Given the description of an element on the screen output the (x, y) to click on. 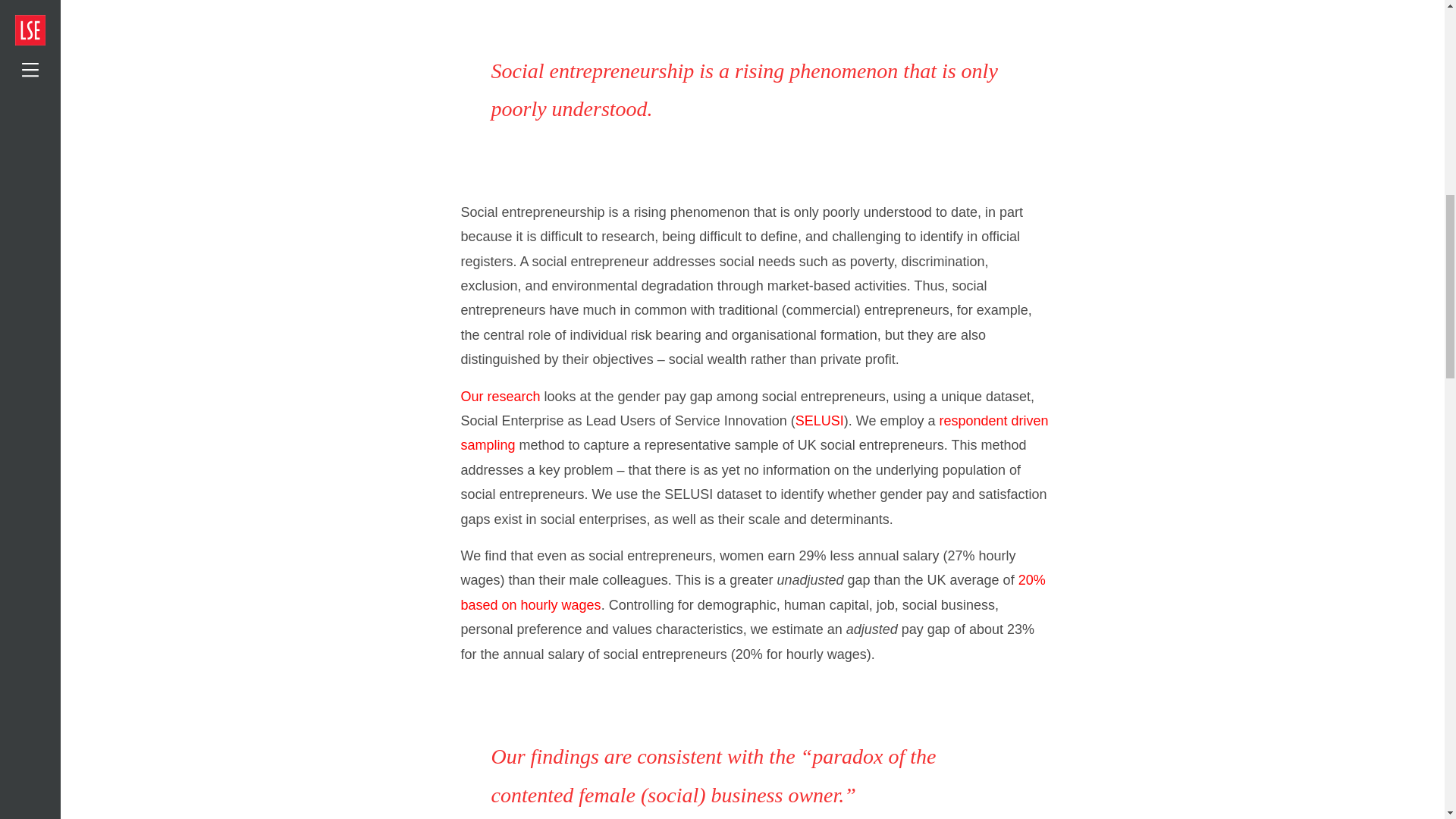
respondent driven sampling (754, 432)
SELUSI (819, 420)
Our research (500, 396)
